Given the description of an element on the screen output the (x, y) to click on. 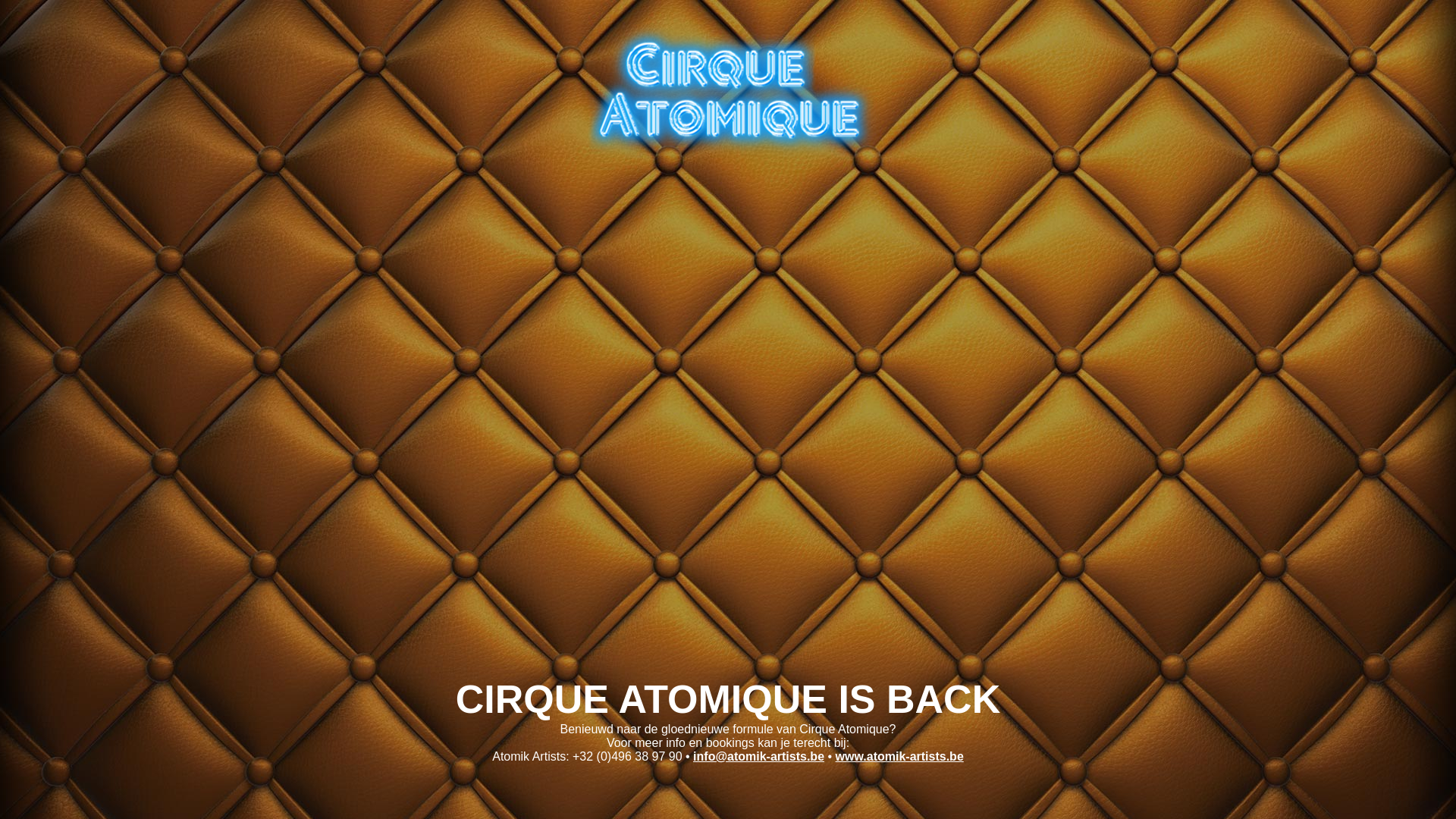
www.atomik-artists.be Element type: text (899, 755)
info@atomik-artists.be Element type: text (758, 755)
